Given the description of an element on the screen output the (x, y) to click on. 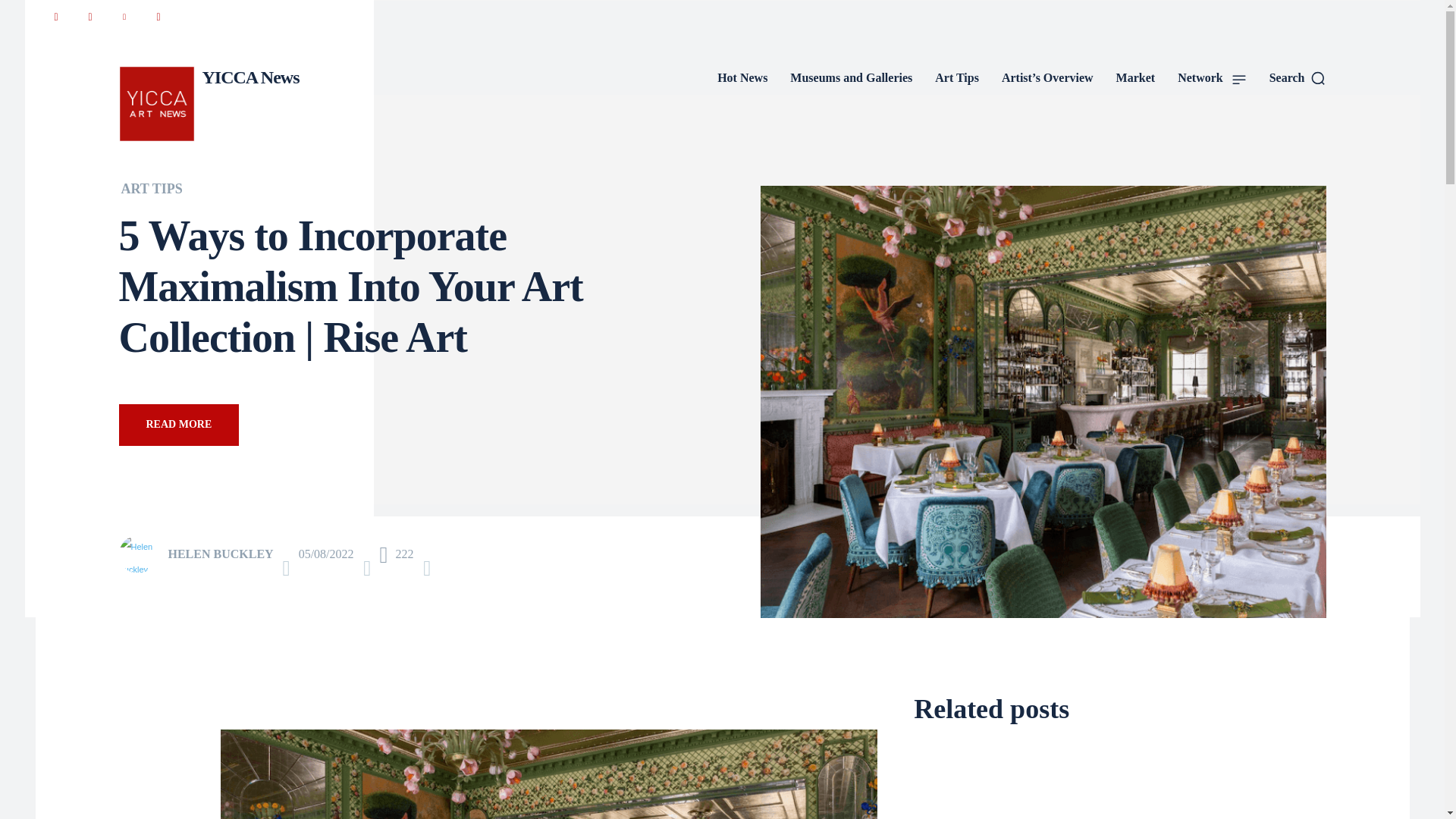
Facebook (55, 17)
Instagram (90, 17)
Twitter (158, 17)
Hot News (742, 77)
Linkedin (123, 17)
YICCA News (207, 103)
Museums and Galleries (850, 77)
